Given the description of an element on the screen output the (x, y) to click on. 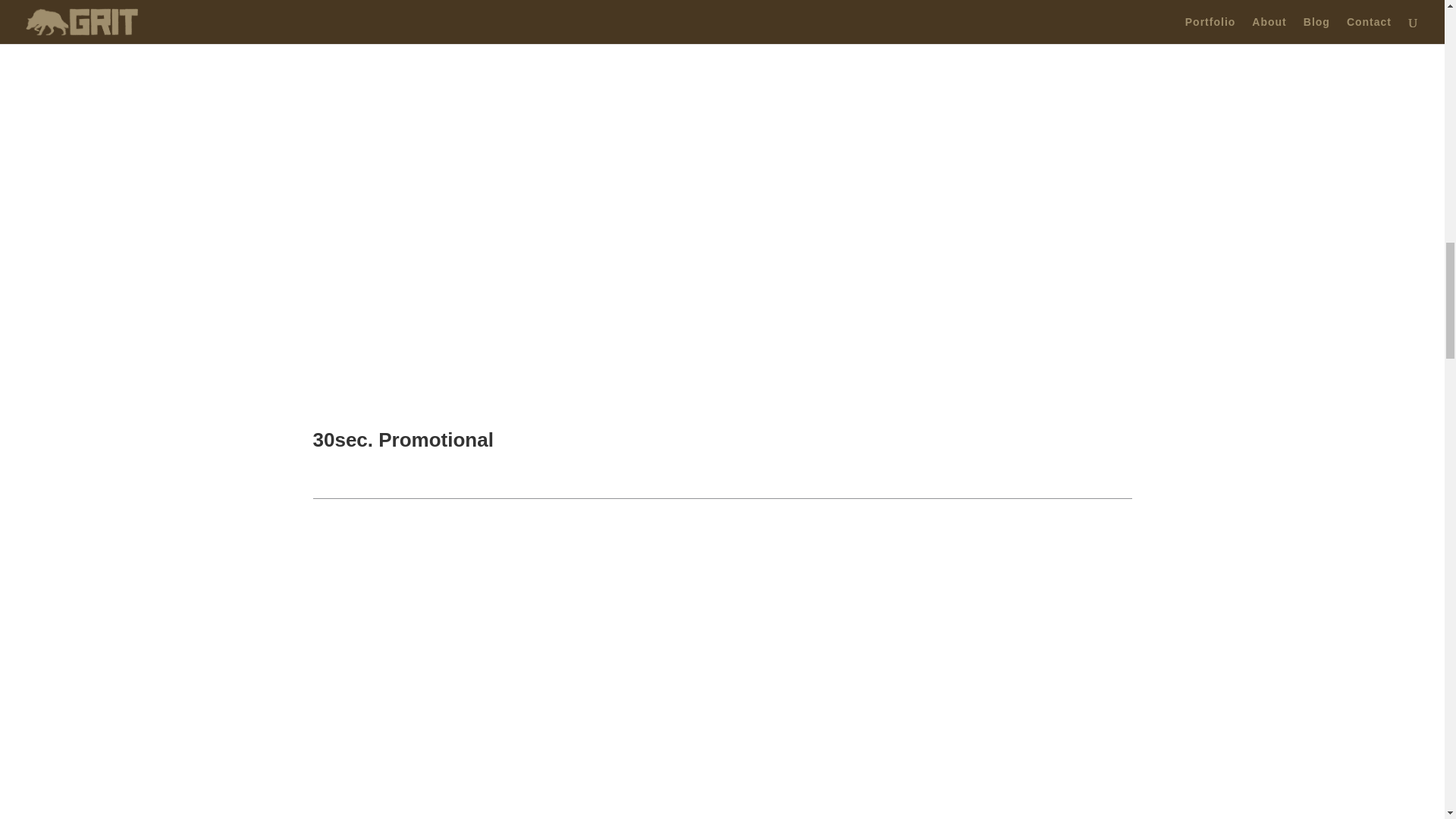
Waterfowl Hunters Expo: 15 Second 9:16 (937, 687)
Waterfowl Hunters Expo: 15 Second 1:1 (505, 687)
